Given the description of an element on the screen output the (x, y) to click on. 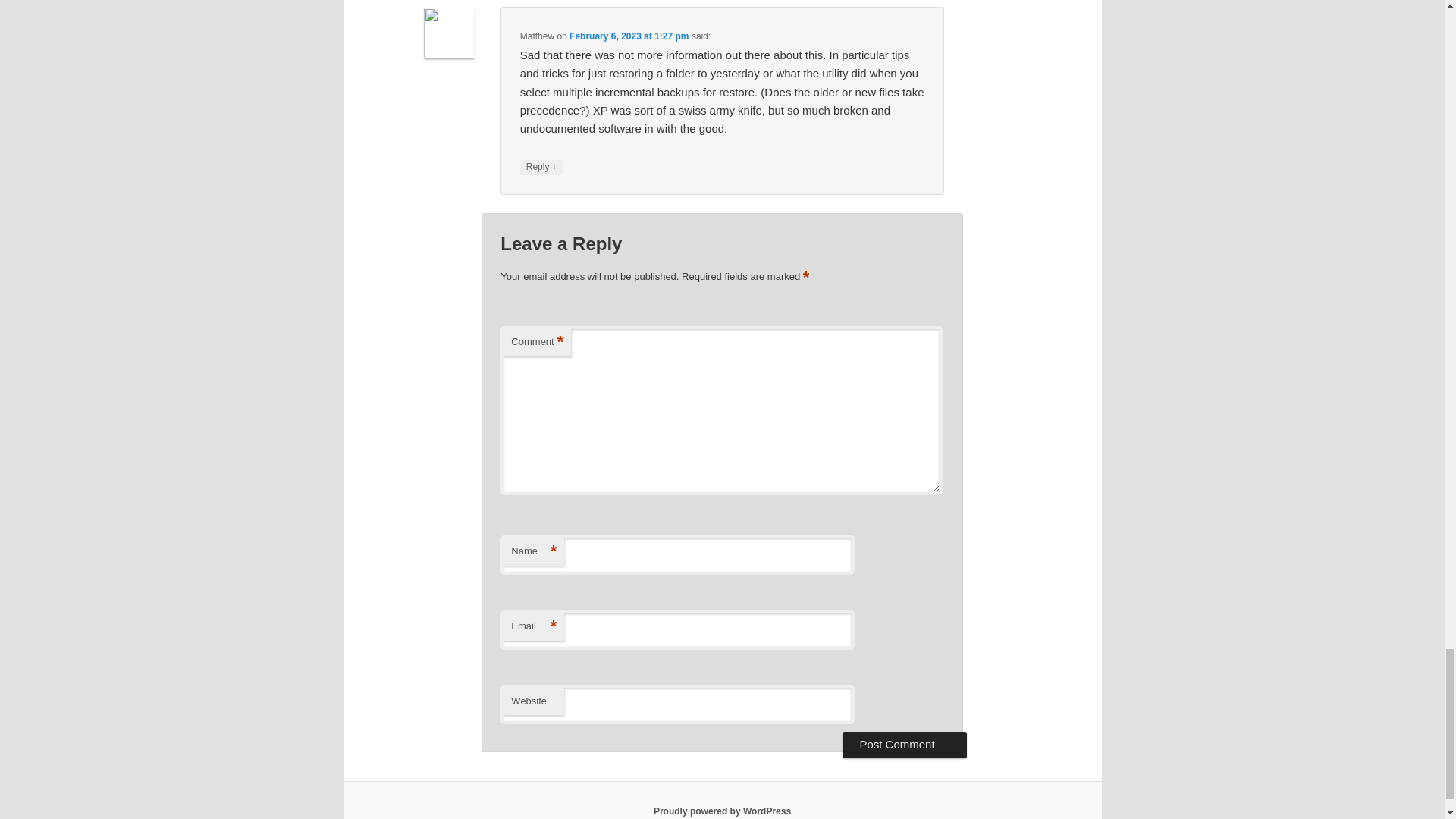
Post Comment (904, 744)
Semantic Personal Publishing Platform (721, 810)
February 6, 2023 at 1:27 pm (628, 35)
Post Comment (904, 744)
Proudly powered by WordPress (721, 810)
